Given the description of an element on the screen output the (x, y) to click on. 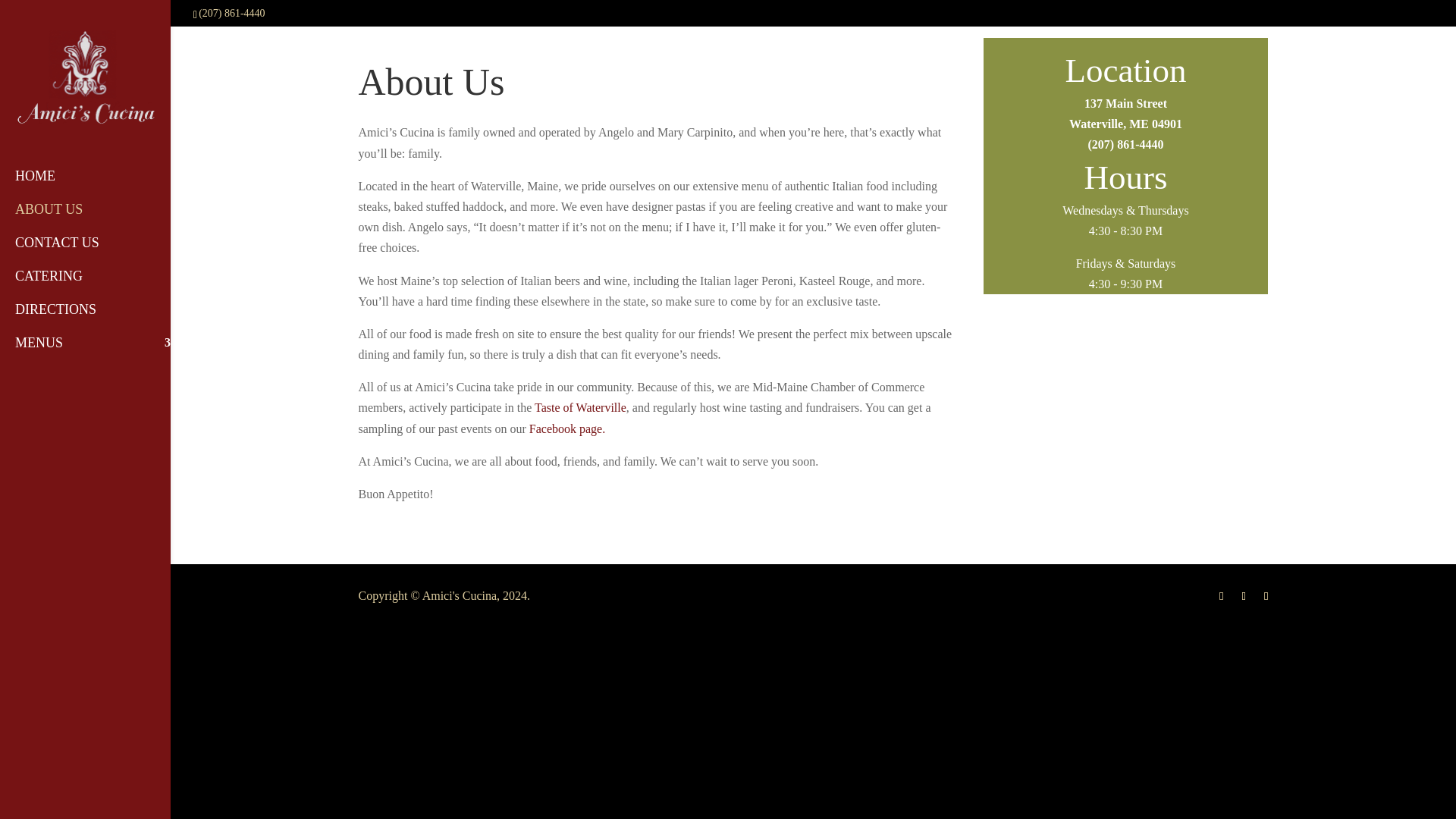
CATERING (100, 287)
Taste of Waterville (1125, 113)
DIRECTIONS (580, 407)
MENUS (100, 320)
ABOUT US (100, 354)
CONTACT US (100, 220)
HOME (100, 254)
Facebook page. (100, 186)
